Given the description of an element on the screen output the (x, y) to click on. 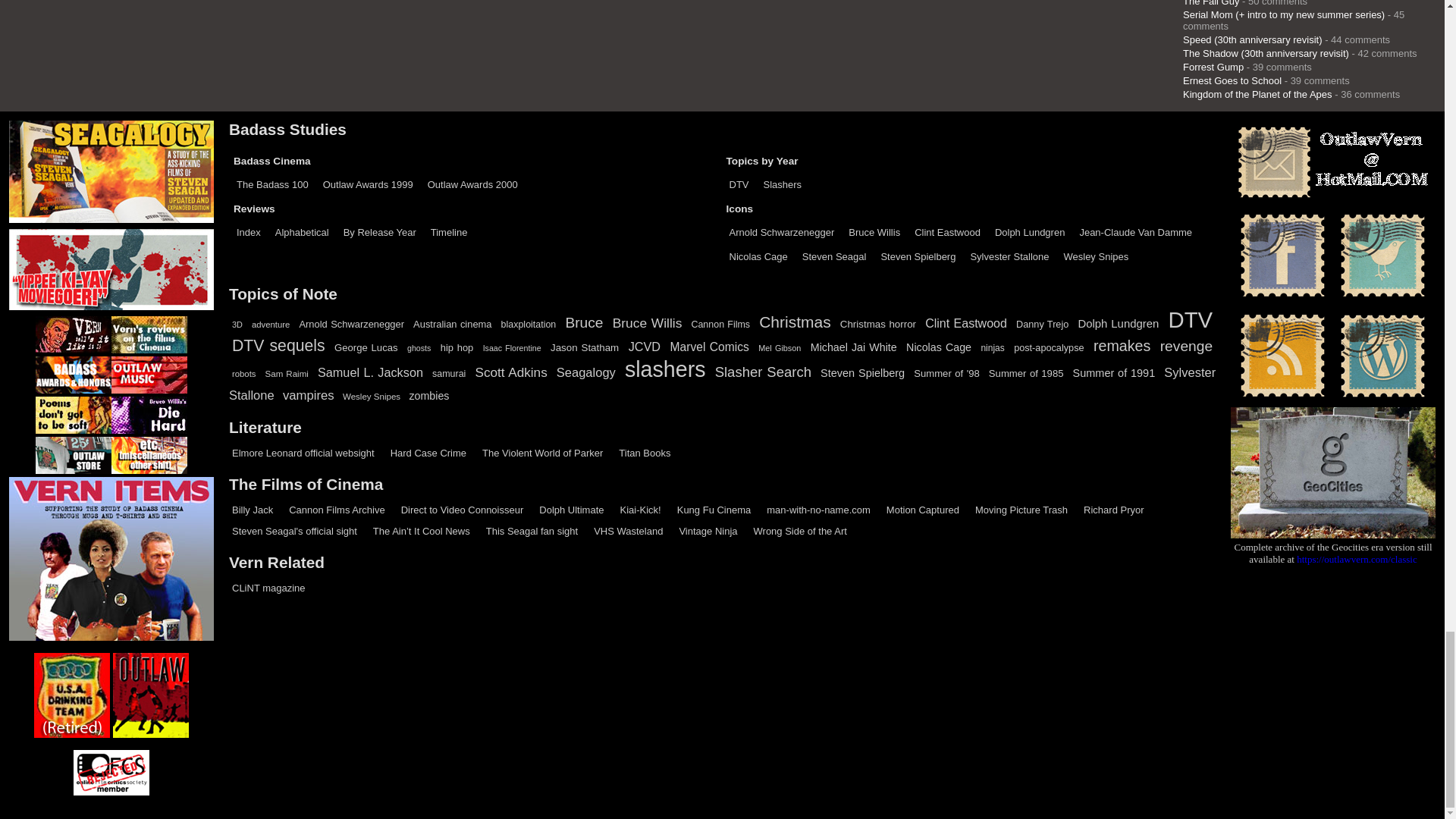
I think you know who that is (302, 452)
This guy is braver than me in his DTV viewing selections (461, 509)
